Given the description of an element on the screen output the (x, y) to click on. 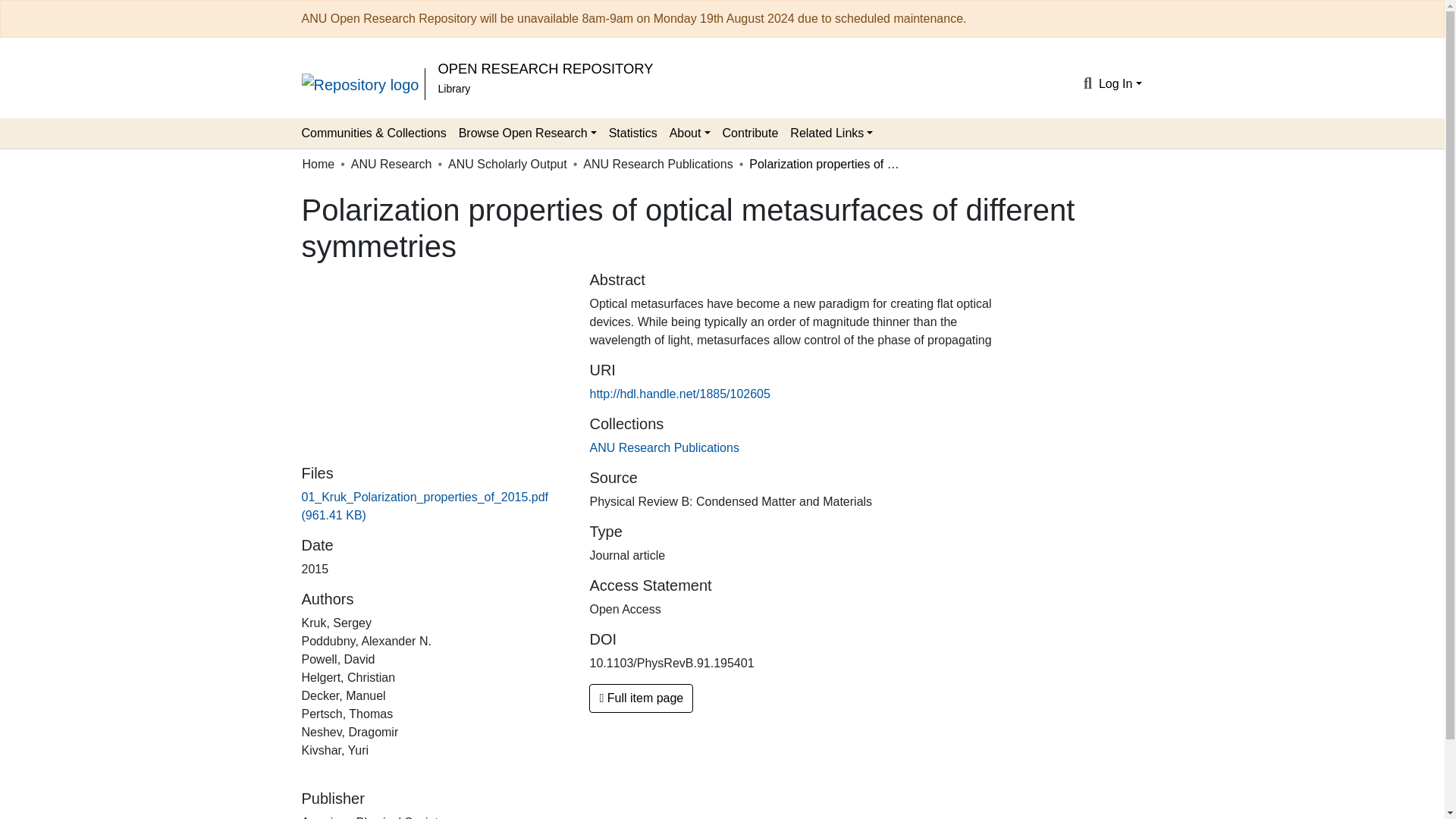
Statistics (632, 132)
ANU Scholarly Output (507, 164)
ANU Research Publications (657, 164)
Search (1087, 84)
Home (317, 164)
Log In (1119, 83)
Statistics (632, 132)
Library (454, 88)
Contribute (750, 132)
ANU Research Publications (663, 447)
